Given the description of an element on the screen output the (x, y) to click on. 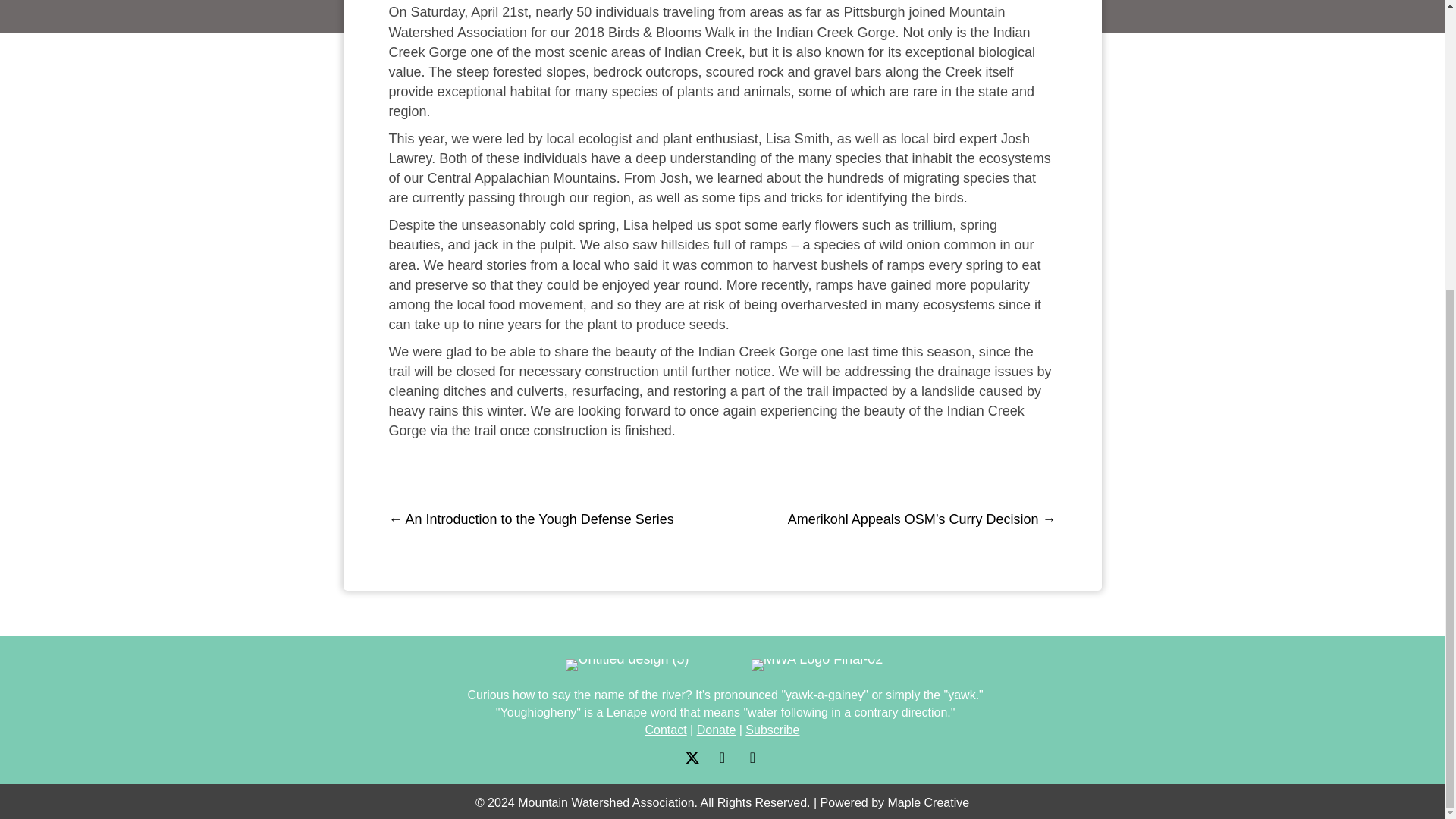
Instagram (752, 757)
Facebook (722, 757)
MWA Logo Final-02 (816, 664)
